Given the description of an element on the screen output the (x, y) to click on. 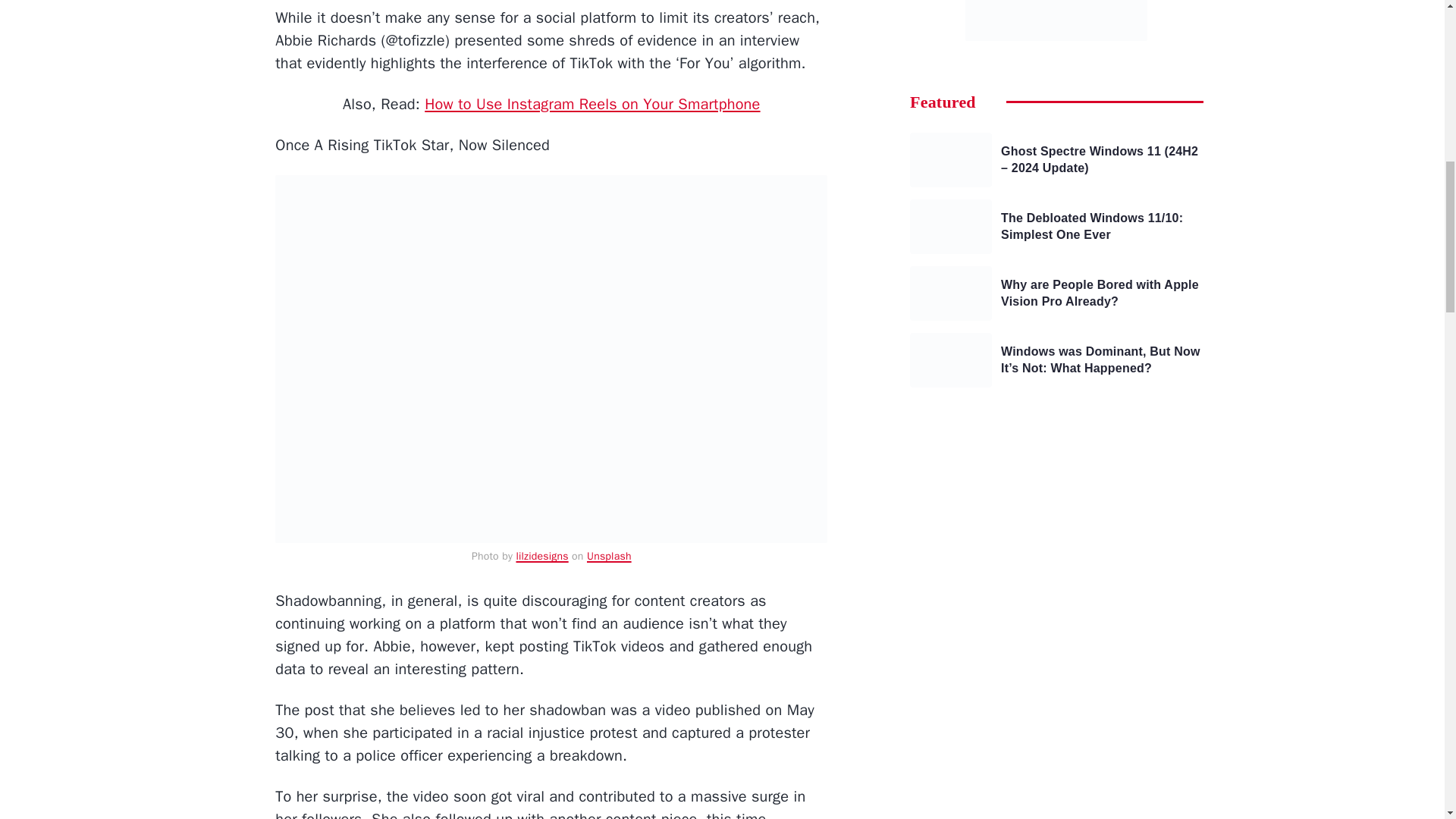
How to Use Instagram Reels on Your Smartphone (592, 104)
Unsplash (608, 555)
lilzidesigns (541, 555)
